Given the description of an element on the screen output the (x, y) to click on. 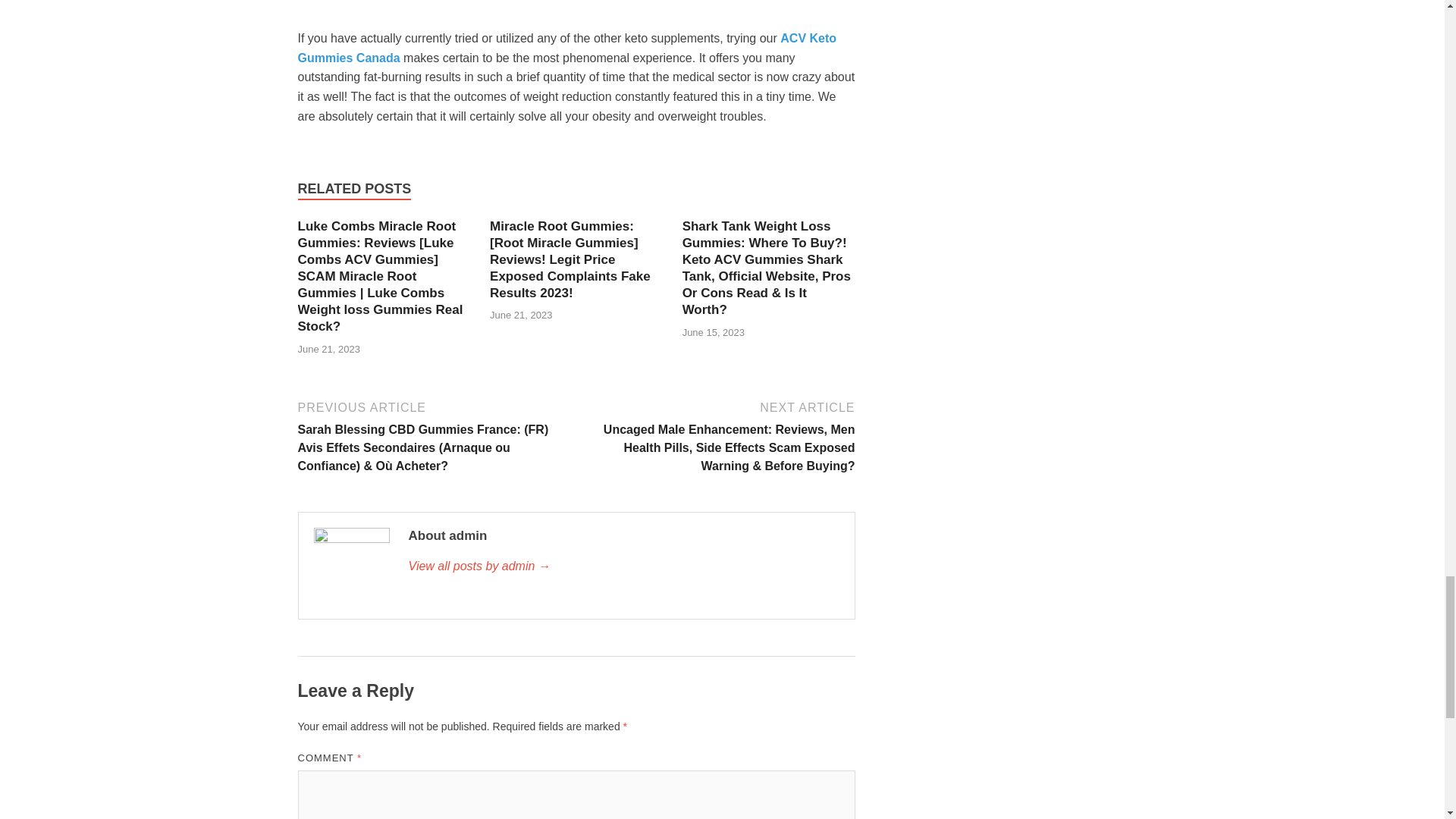
admin (622, 566)
ACV Keto Gummies Canada (566, 47)
